Given the description of an element on the screen output the (x, y) to click on. 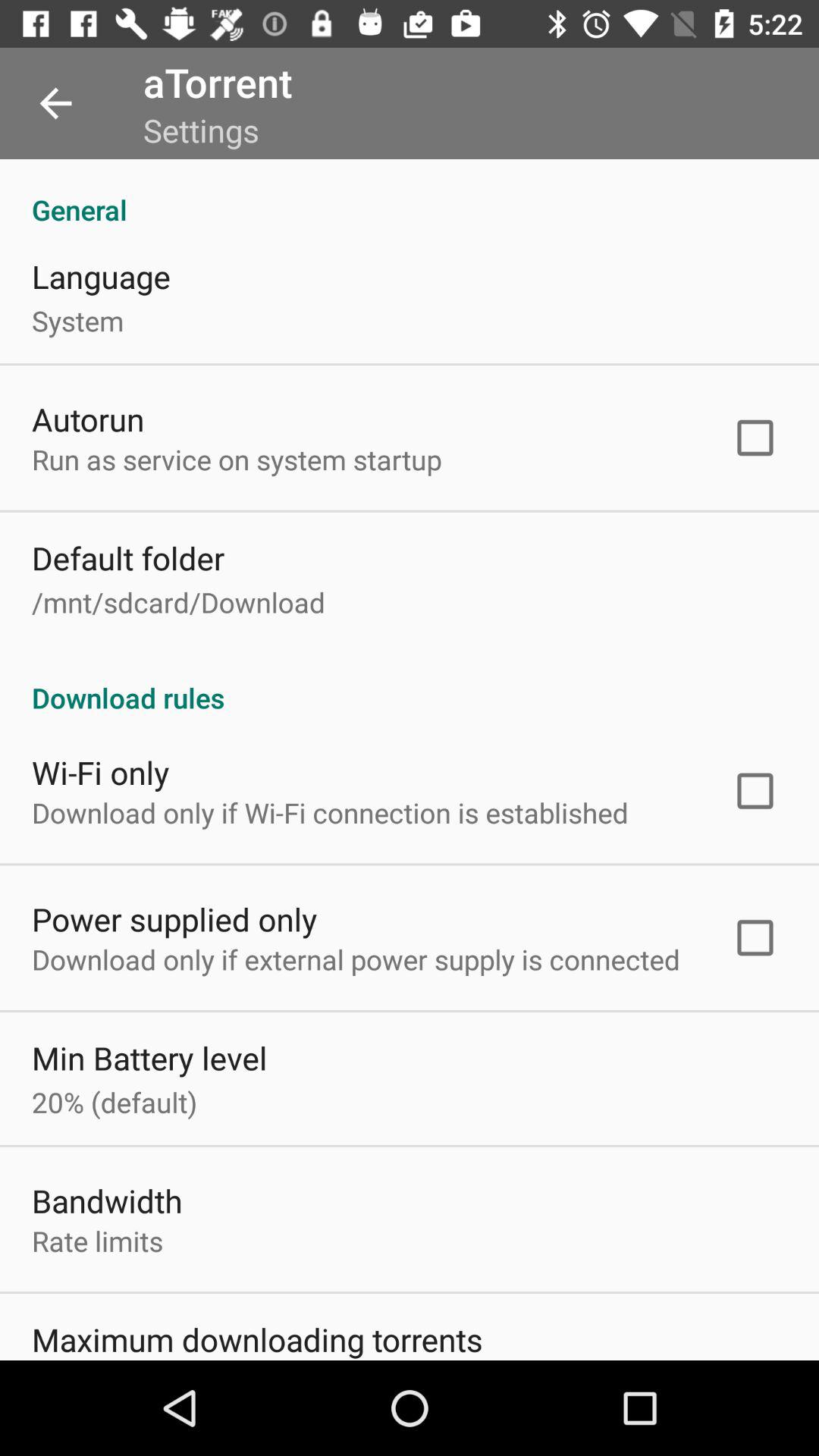
turn off icon below general (100, 276)
